Given the description of an element on the screen output the (x, y) to click on. 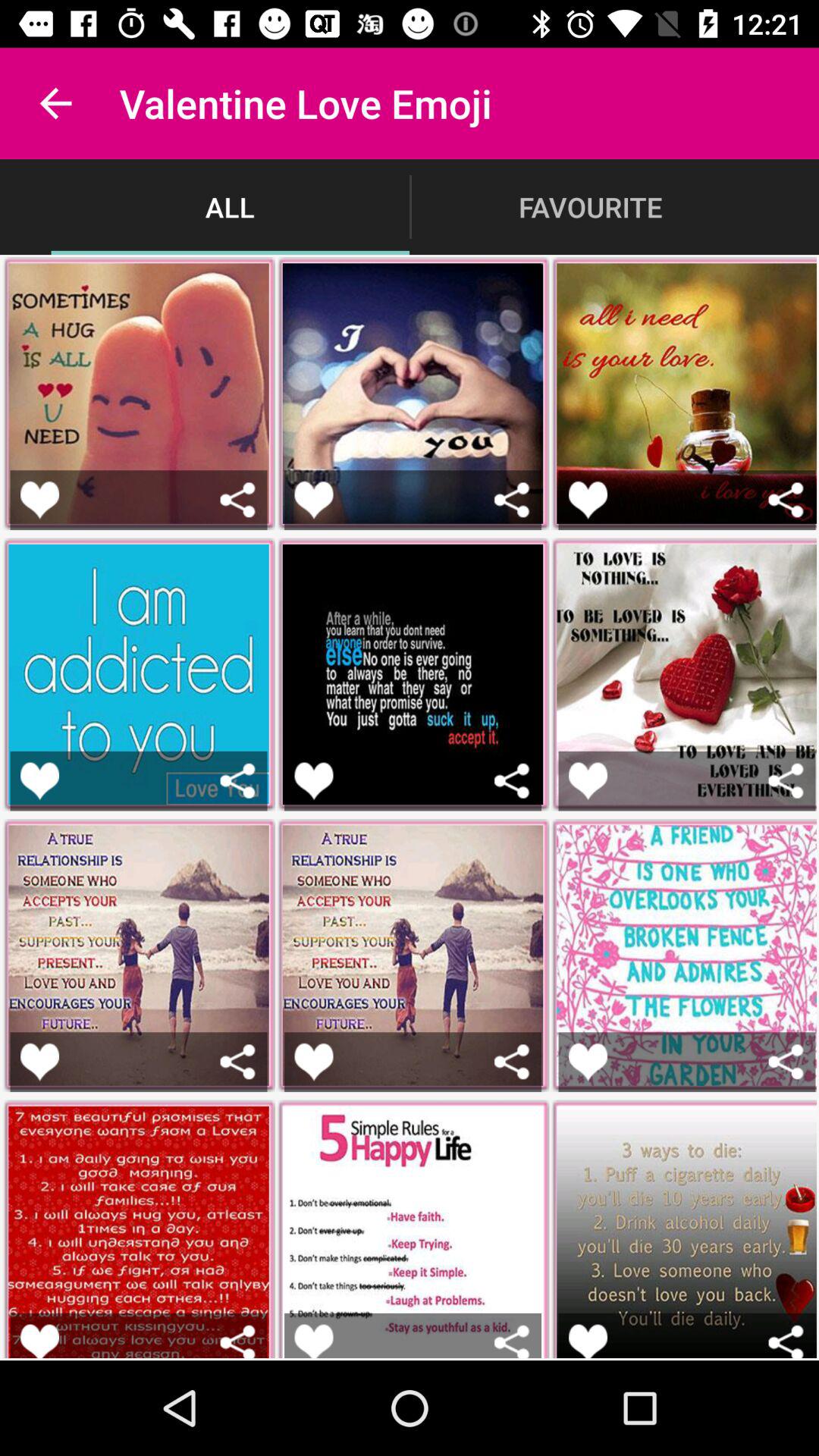
like photo (587, 1061)
